Given the description of an element on the screen output the (x, y) to click on. 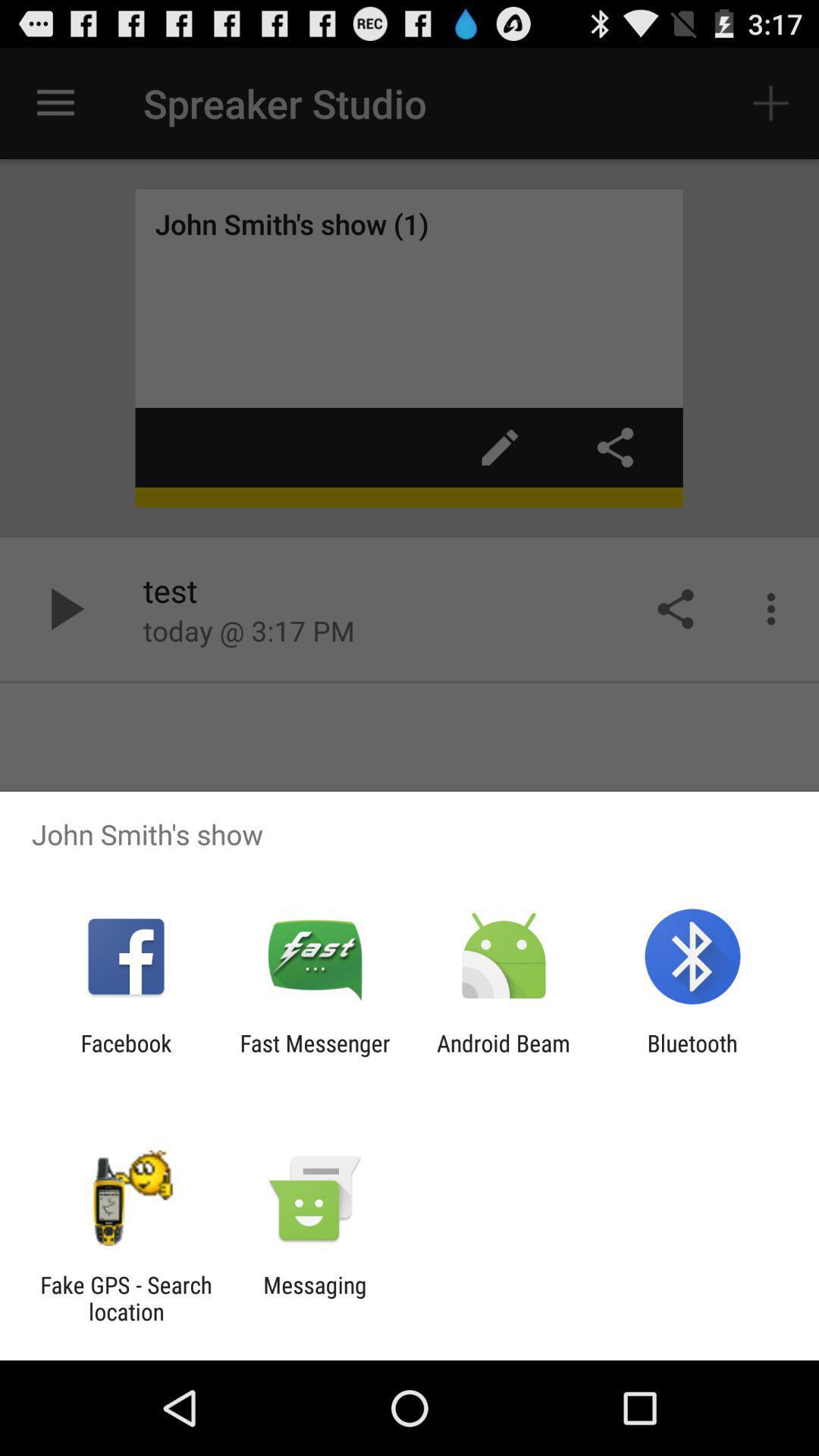
scroll until fake gps search item (125, 1298)
